Given the description of an element on the screen output the (x, y) to click on. 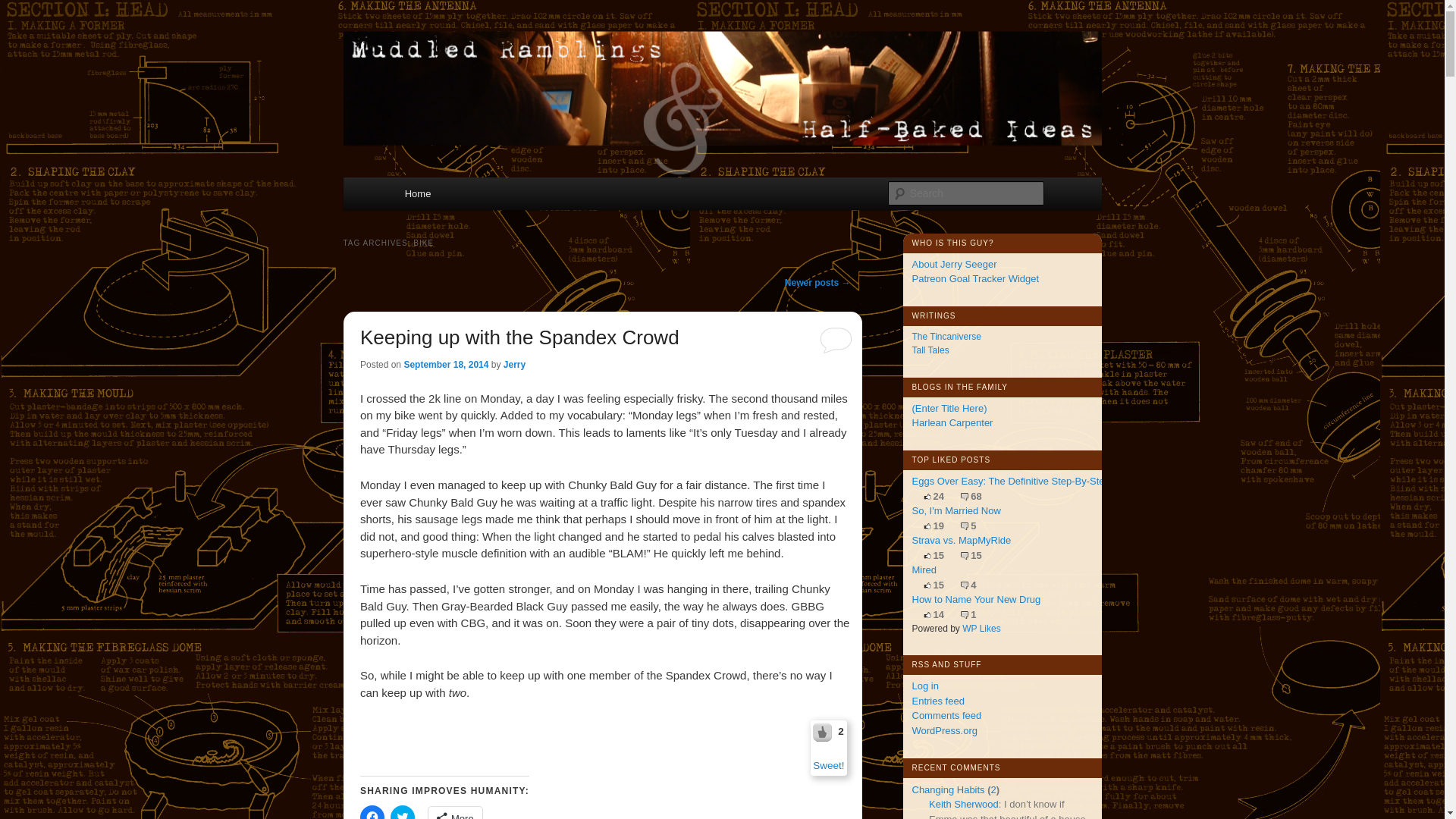
Sweet! (823, 731)
Click to share on Twitter (402, 812)
Keeping up with the Spandex Crowd (519, 336)
View all posts by Jerry (514, 364)
Sweet! (828, 765)
3:28 pm (445, 364)
September 18, 2014 (445, 364)
Muddled Ramblings and Half-Baked Ideas (626, 77)
Click to share on Facebook (371, 812)
Jerry (514, 364)
Home (417, 193)
More (454, 812)
Search (24, 8)
